Given the description of an element on the screen output the (x, y) to click on. 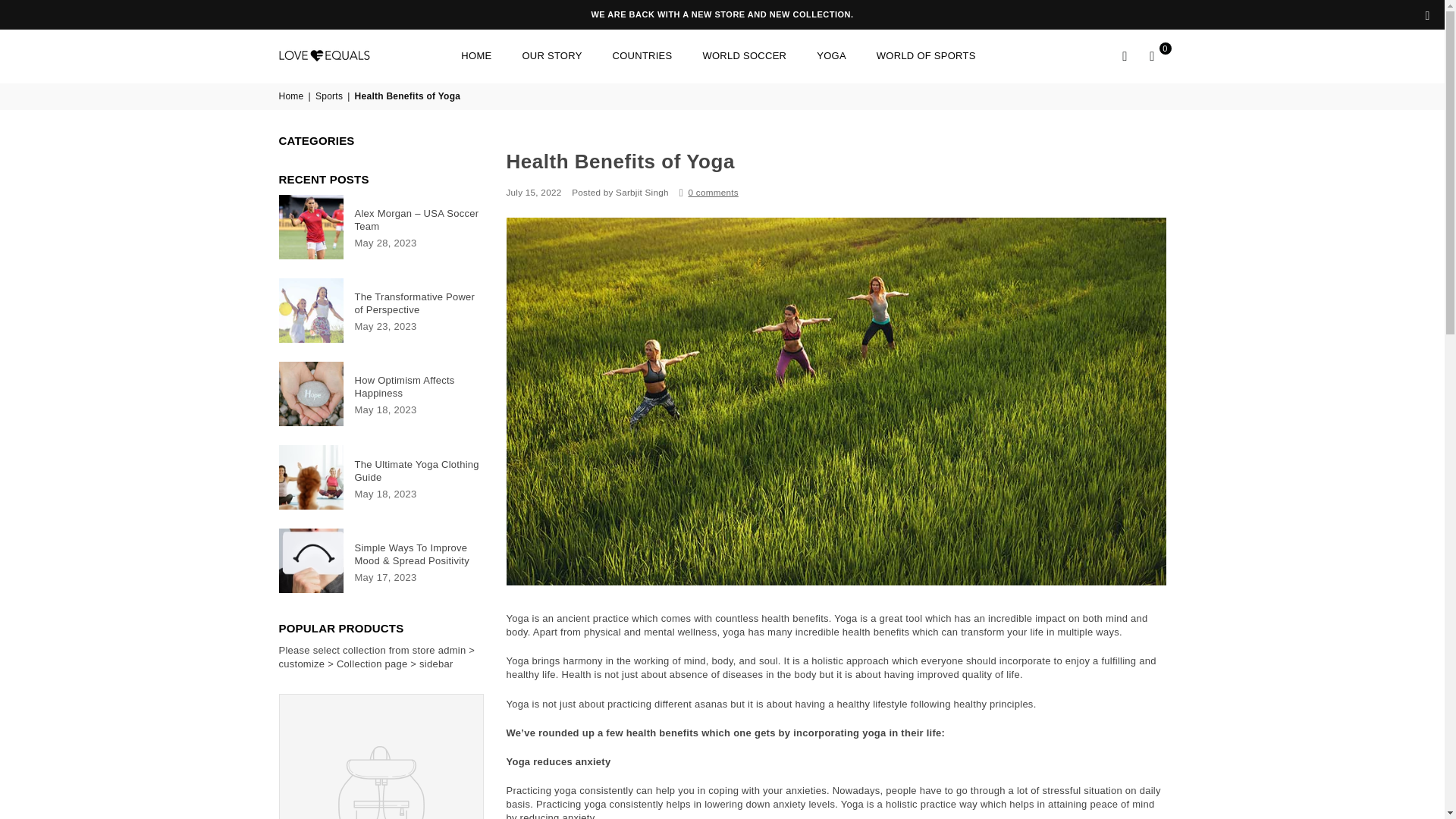
yoga reduces anxiety (558, 761)
Sports (330, 96)
HOME (475, 56)
transform your life (1001, 632)
Cart (1152, 56)
WORLD OF SPORTS (925, 56)
LOVE EQUALS (343, 56)
COUNTRIES (642, 56)
0 comments (713, 192)
Yoga reduces anxiety (558, 761)
Back to the home page (292, 96)
Home (292, 96)
0 (1152, 56)
Search (1125, 56)
OUR STORY (551, 56)
